Given the description of an element on the screen output the (x, y) to click on. 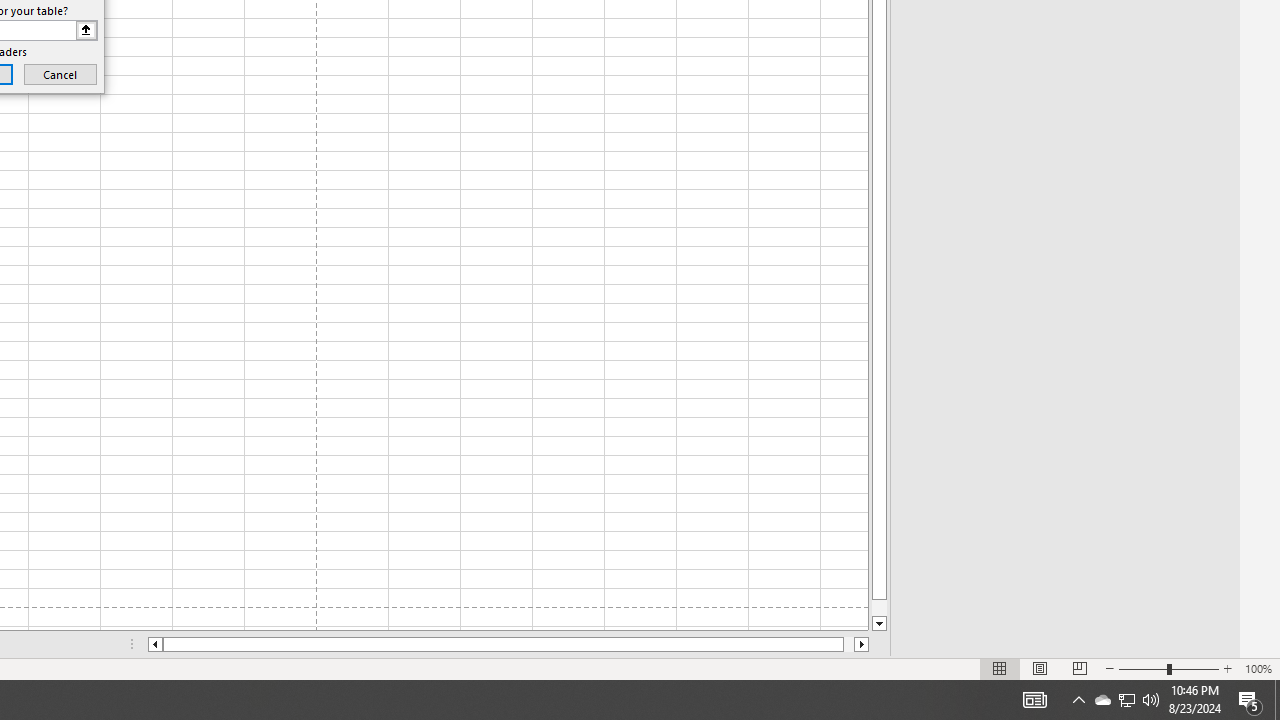
Page down (879, 607)
Normal (1000, 668)
Column right (861, 644)
Page Break Preview (1079, 668)
Zoom (1168, 668)
Page right (848, 644)
Class: NetUIScrollBar (507, 644)
Zoom Out (1142, 668)
Line down (879, 624)
Zoom In (1227, 668)
Column left (153, 644)
